Given the description of an element on the screen output the (x, y) to click on. 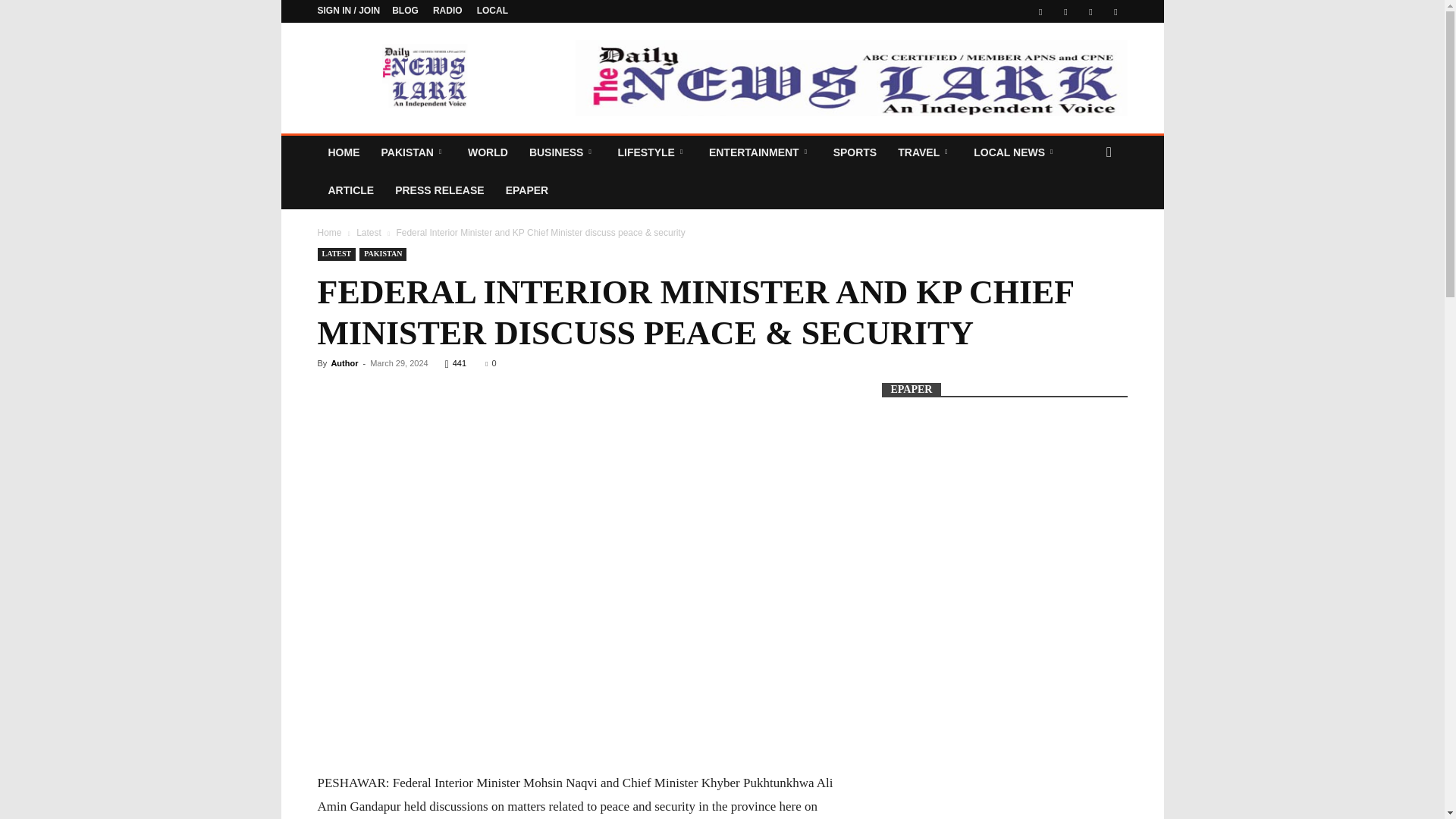
LOCAL (492, 9)
RADIO (447, 9)
Facebook (1040, 11)
Youtube (1114, 11)
VKontakte (1090, 11)
Twitter (1065, 11)
BLOG (405, 9)
